Given the description of an element on the screen output the (x, y) to click on. 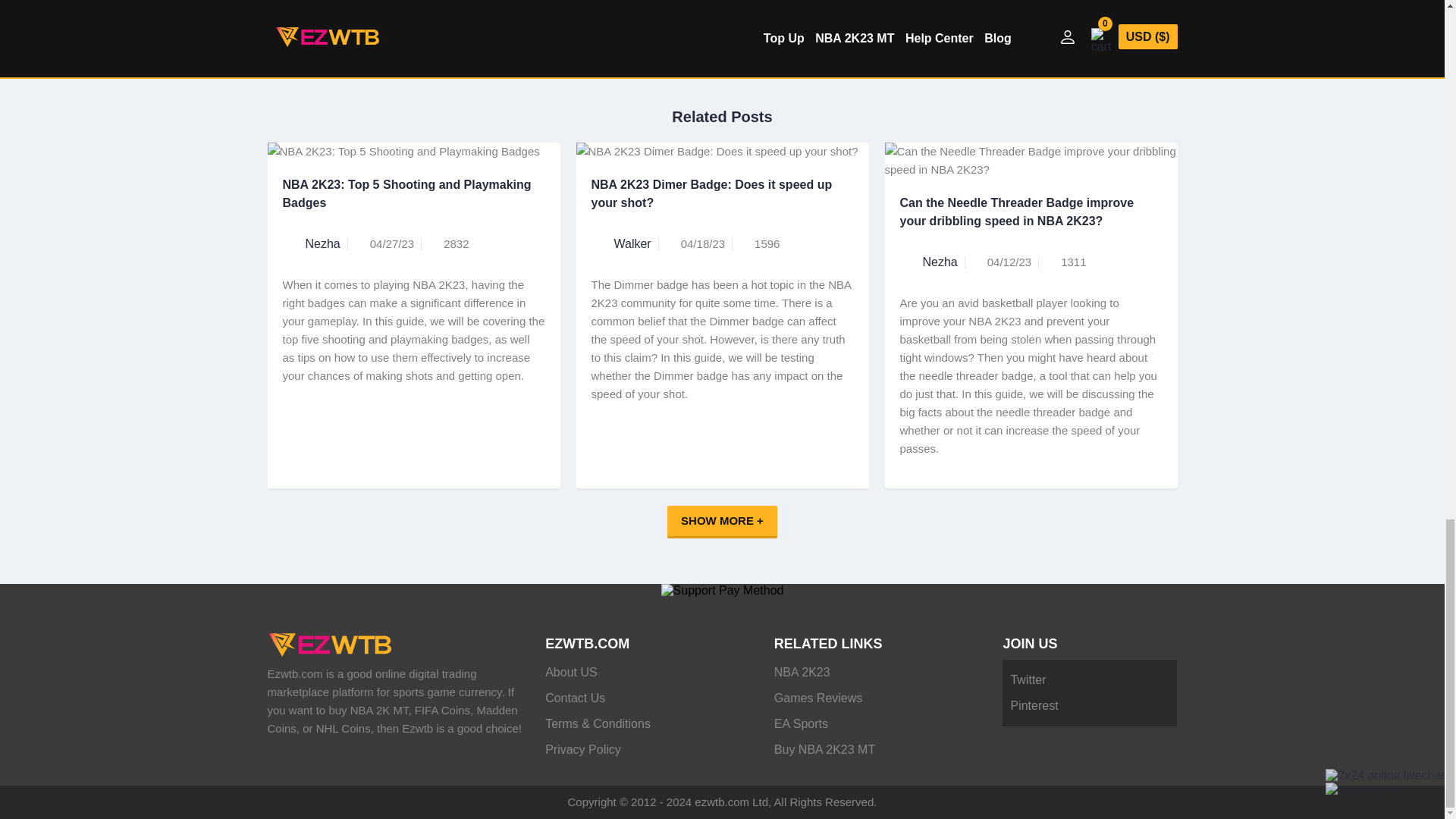
Walker (632, 244)
NBA 2K23: Top 5 Shooting and Playmaking Badges (413, 201)
NBA 2K23 Dimer Badge: Does it speed up your shot? (722, 201)
Nezha (938, 262)
Nezha (321, 244)
